Given the description of an element on the screen output the (x, y) to click on. 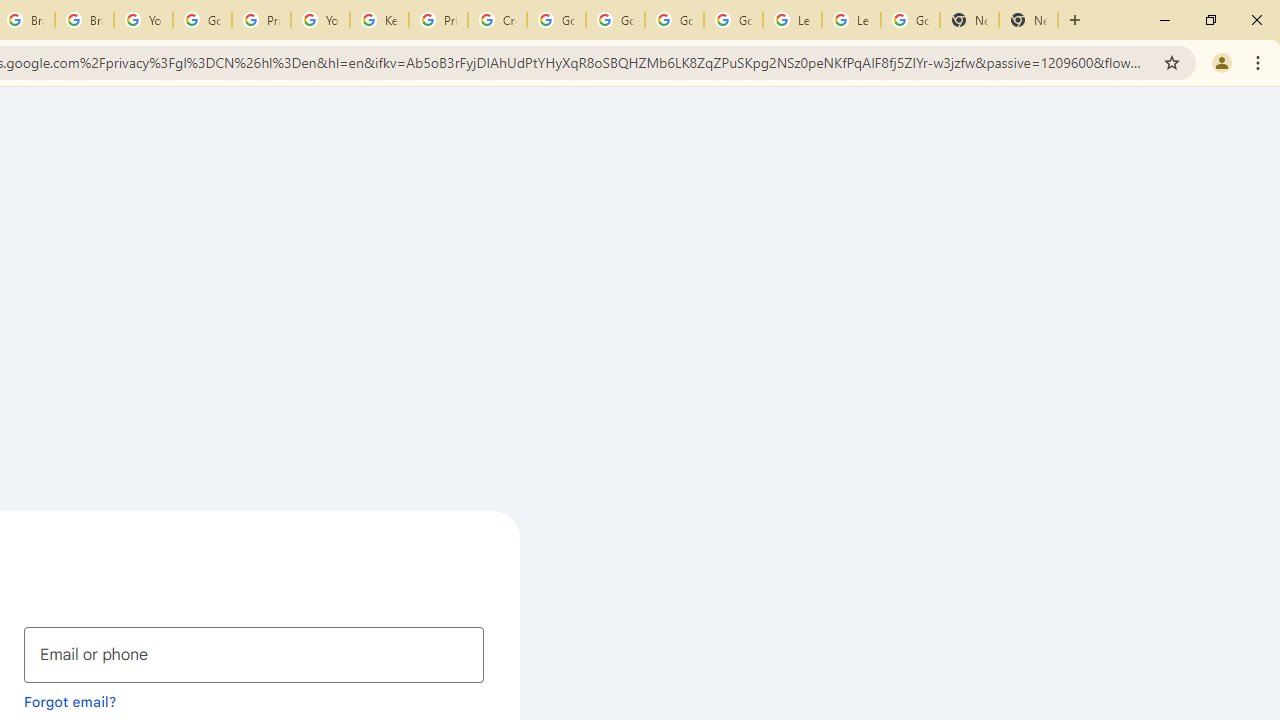
Google Account Help (733, 20)
Email or phone (253, 654)
New Tab (1028, 20)
Google Account Help (201, 20)
YouTube (142, 20)
